Given the description of an element on the screen output the (x, y) to click on. 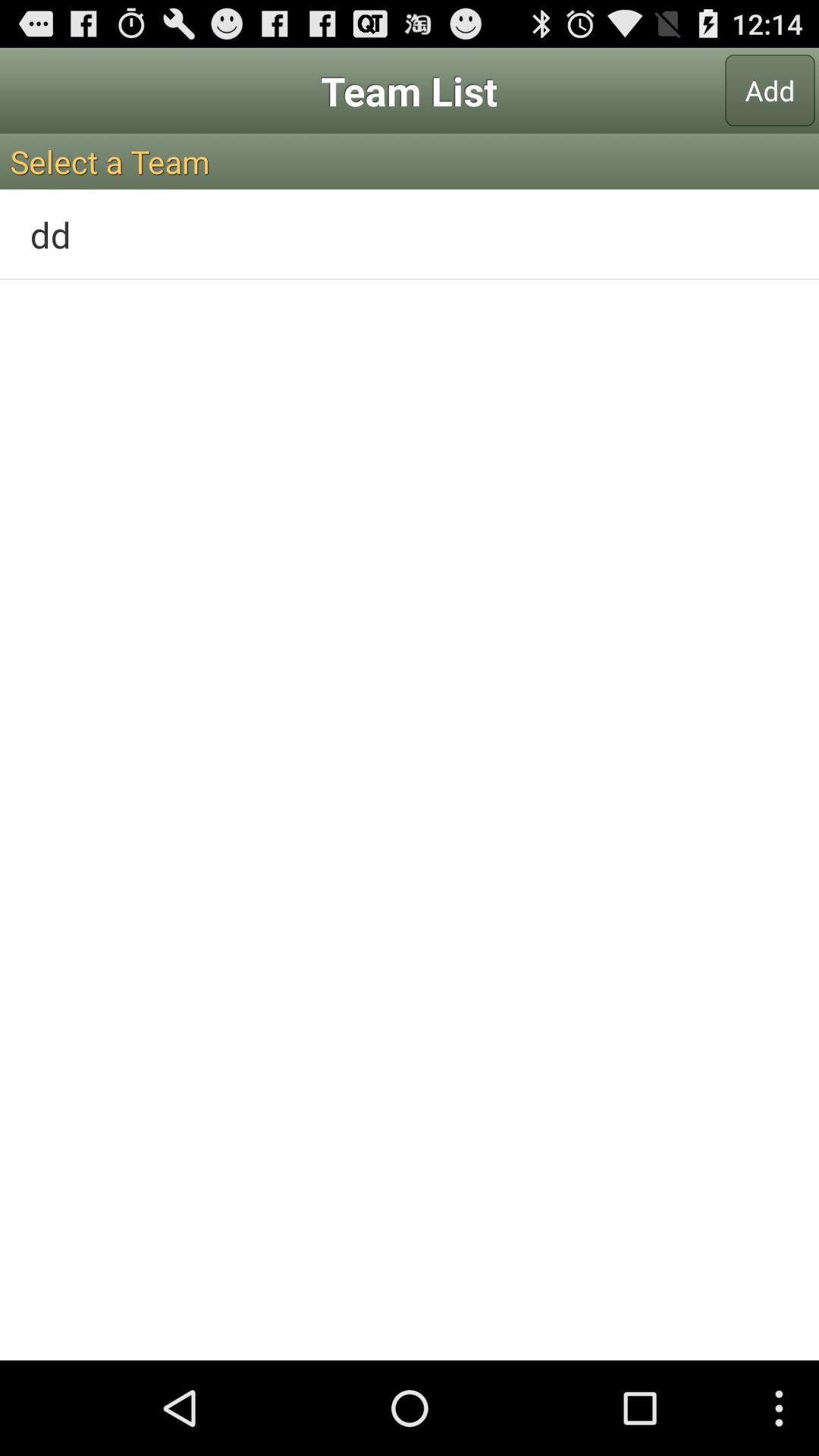
press the item above select a team icon (770, 90)
